Given the description of an element on the screen output the (x, y) to click on. 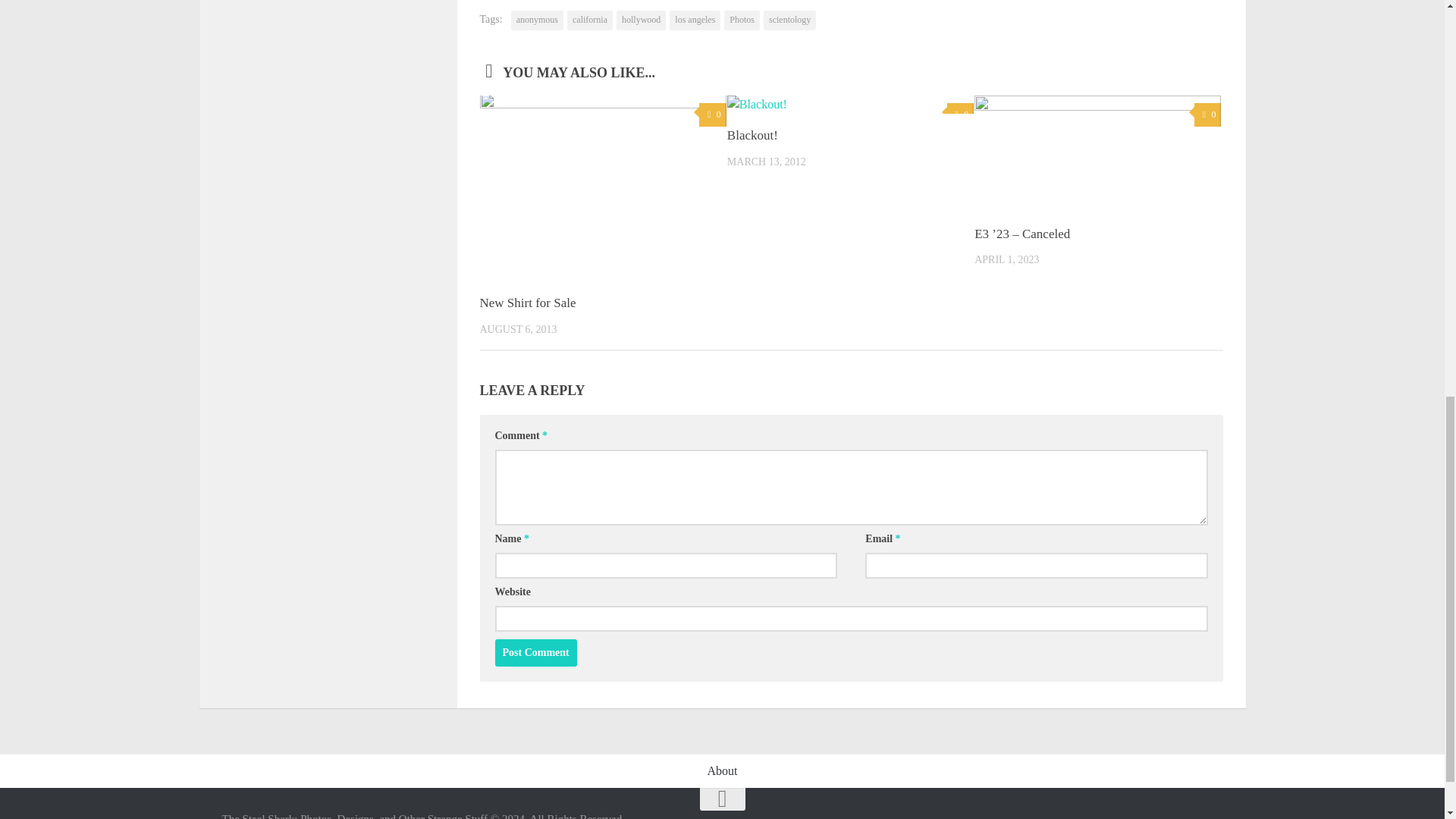
Post Comment (535, 652)
Photos (741, 20)
0 (960, 114)
scientology (788, 20)
anonymous (537, 20)
hollywood (640, 20)
Blackout! (751, 134)
0 (1207, 114)
los angeles (694, 20)
0 (711, 114)
New Shirt for Sale (527, 302)
california (589, 20)
